Given the description of an element on the screen output the (x, y) to click on. 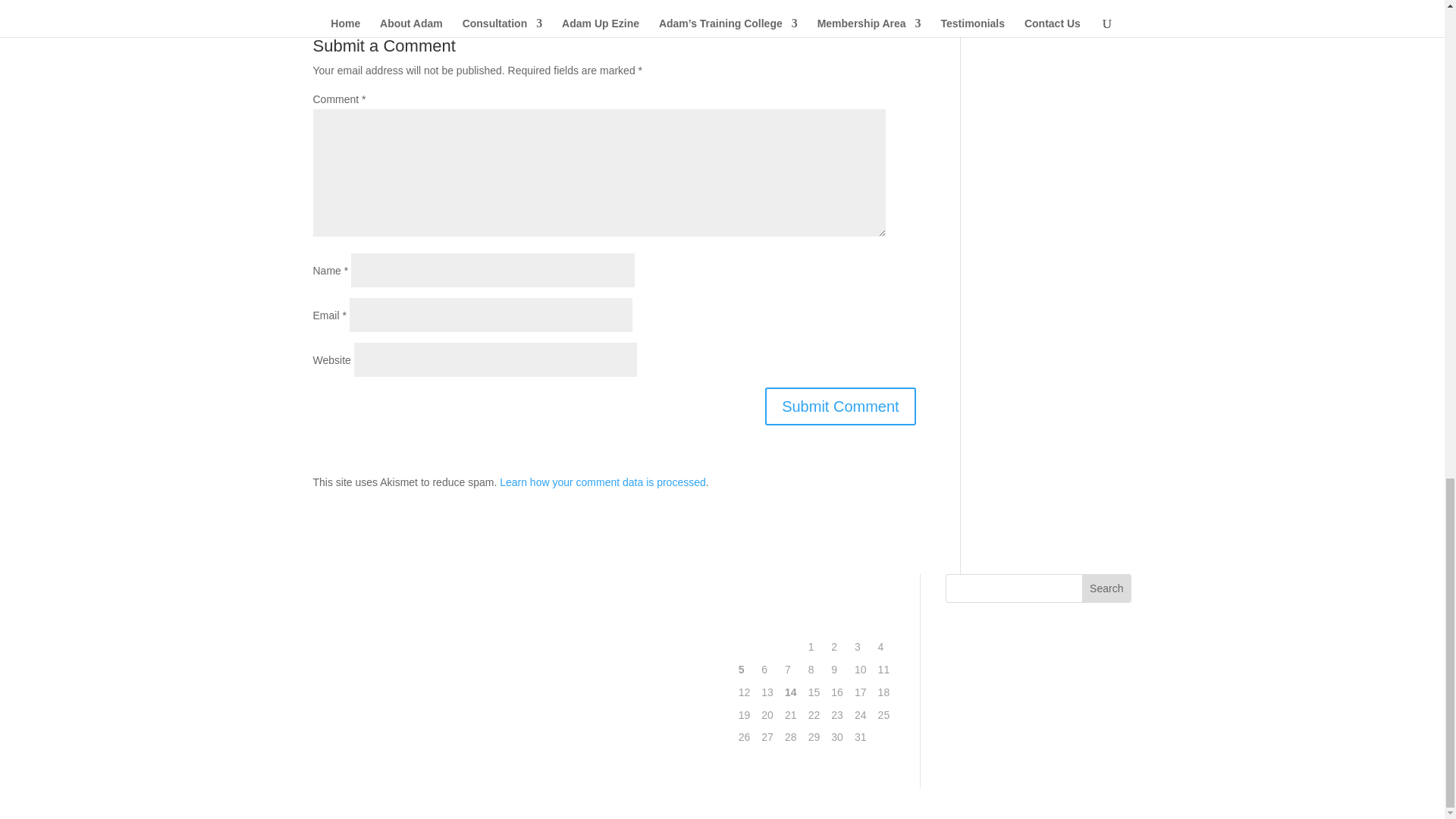
Tuesday (768, 624)
Submit Comment (840, 406)
Wednesday (792, 624)
Thursday (816, 624)
Saturday (862, 624)
Submit Comment (840, 406)
Search (1106, 587)
Friday (838, 624)
Search (1106, 587)
Monday (746, 624)
